Given the description of an element on the screen output the (x, y) to click on. 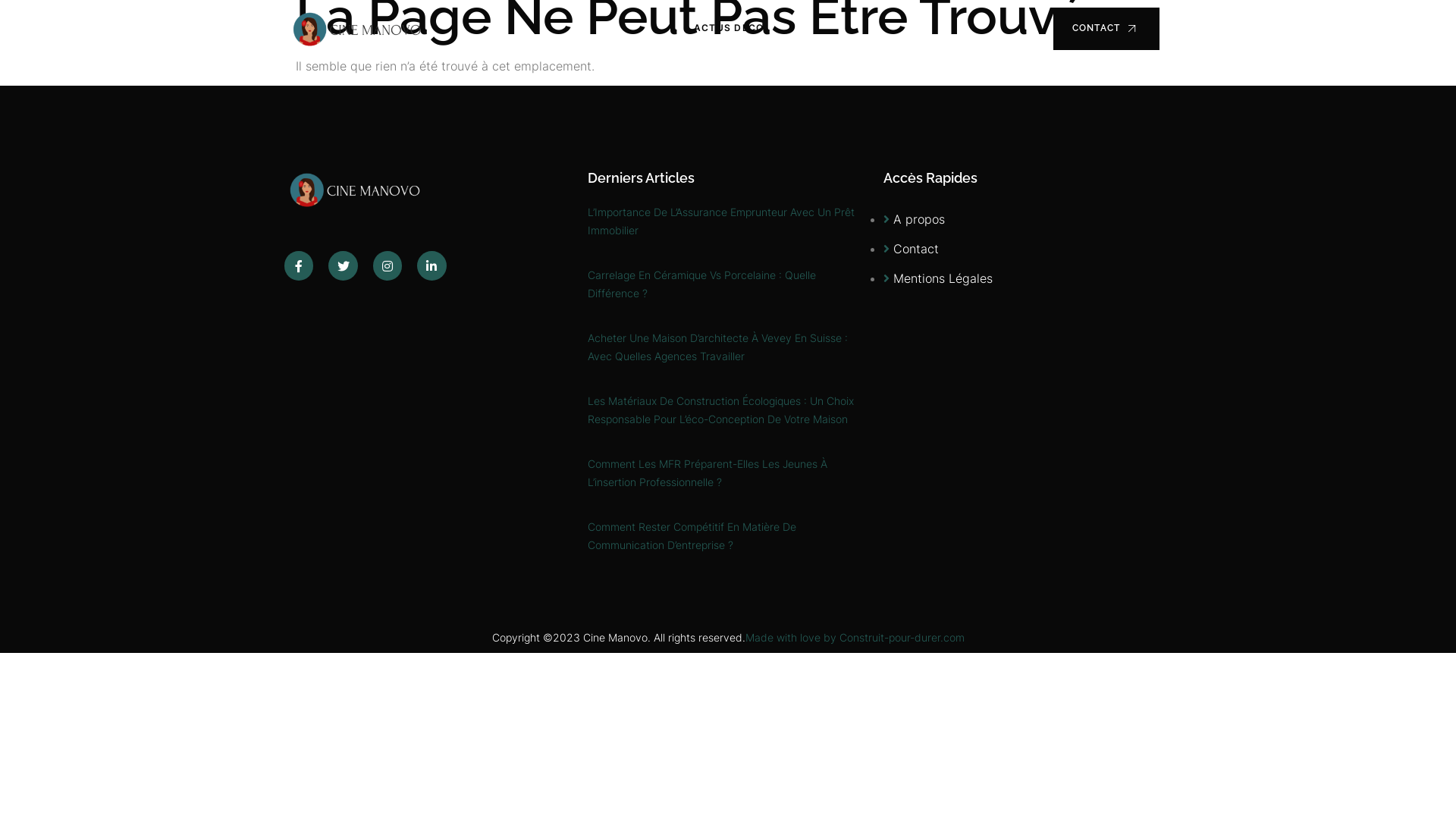
A propos Element type: text (913, 218)
ACTUS DECO Element type: text (728, 28)
CONTACT Element type: text (1106, 28)
Contact Element type: text (910, 248)
Made with love by Construit-pour-durer.com Element type: text (853, 636)
